Given the description of an element on the screen output the (x, y) to click on. 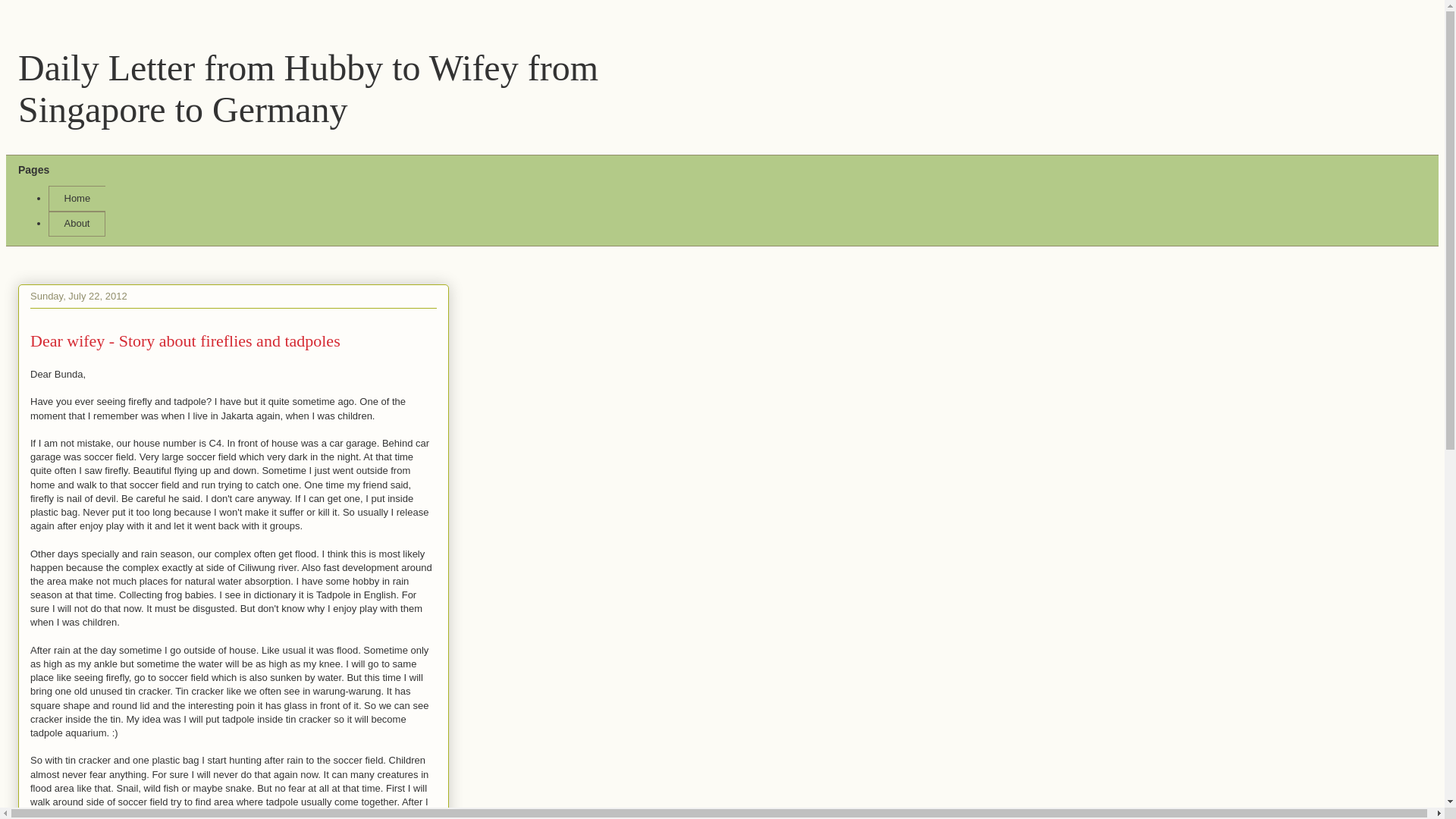
Home (76, 198)
Daily Letter from Hubby to Wifey from Singapore to Germany (307, 88)
About (76, 224)
